Given the description of an element on the screen output the (x, y) to click on. 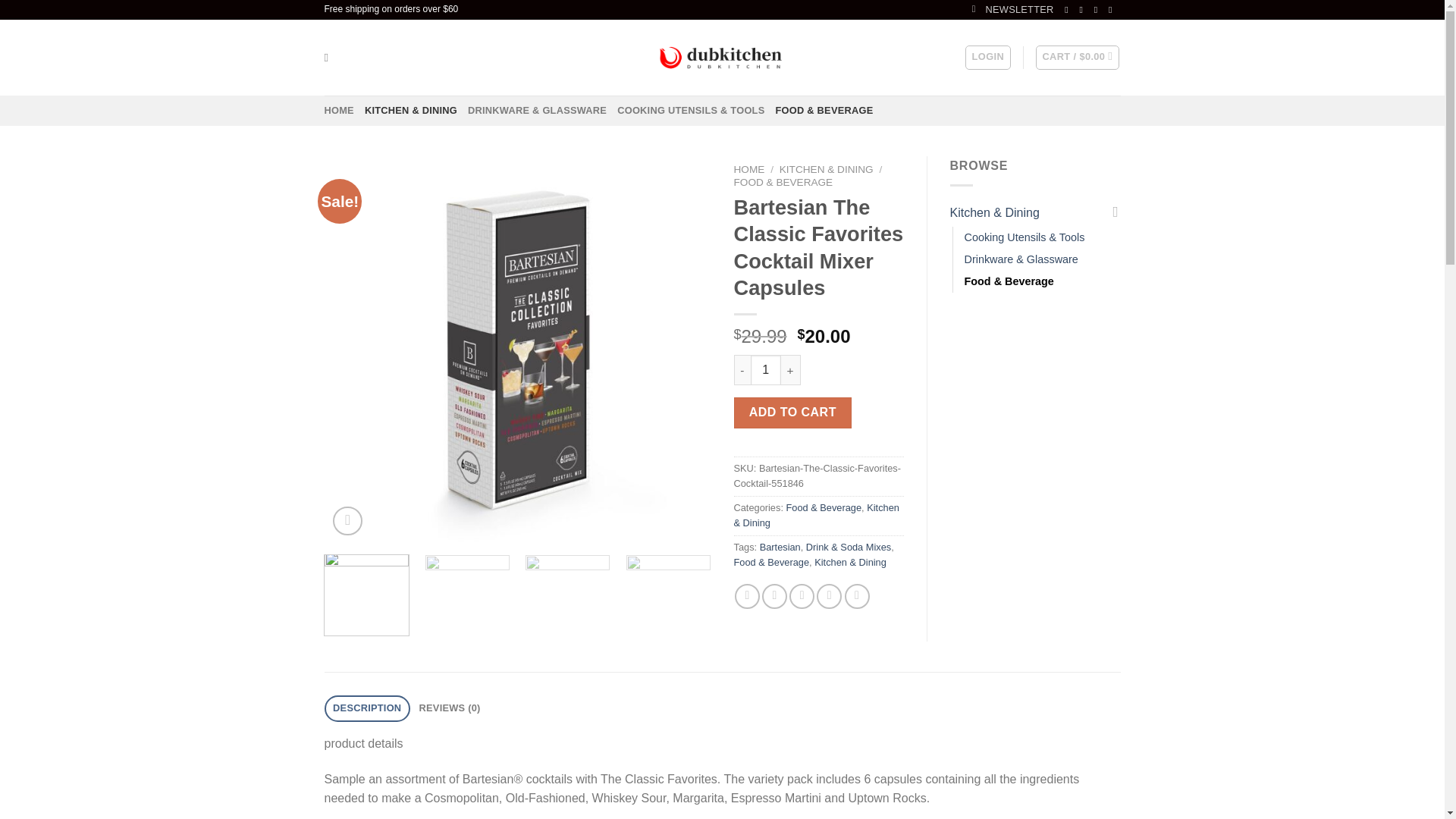
Zoom (347, 521)
DUBKITCHEN (722, 57)
HOME (338, 110)
HOME (749, 169)
Sign up for Newsletter (1013, 9)
1 (765, 369)
ADD TO CART (792, 412)
LOGIN (987, 57)
Cart (1077, 57)
